Given the description of an element on the screen output the (x, y) to click on. 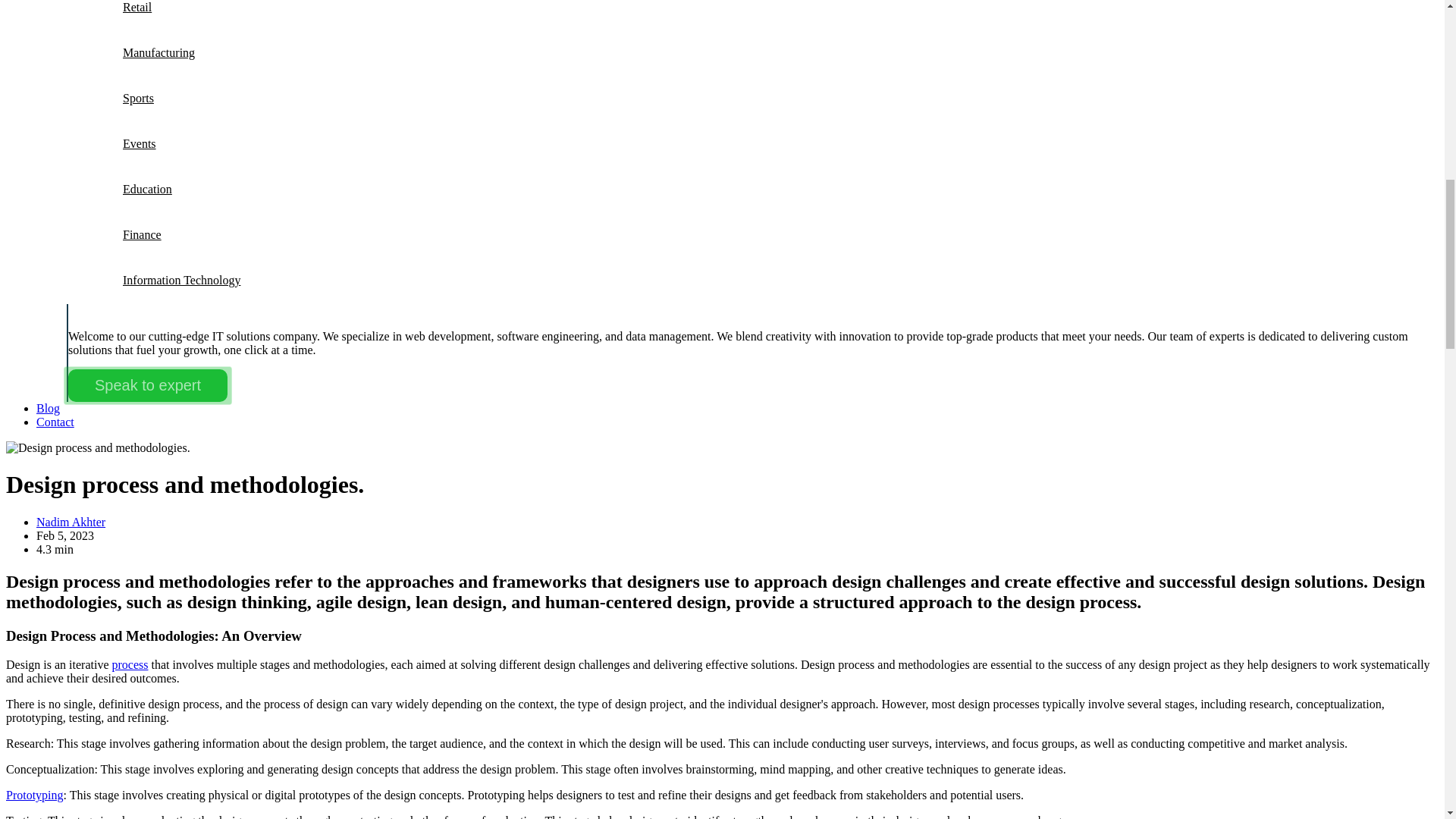
Retail (136, 7)
Manufacturing (158, 53)
